Given the description of an element on the screen output the (x, y) to click on. 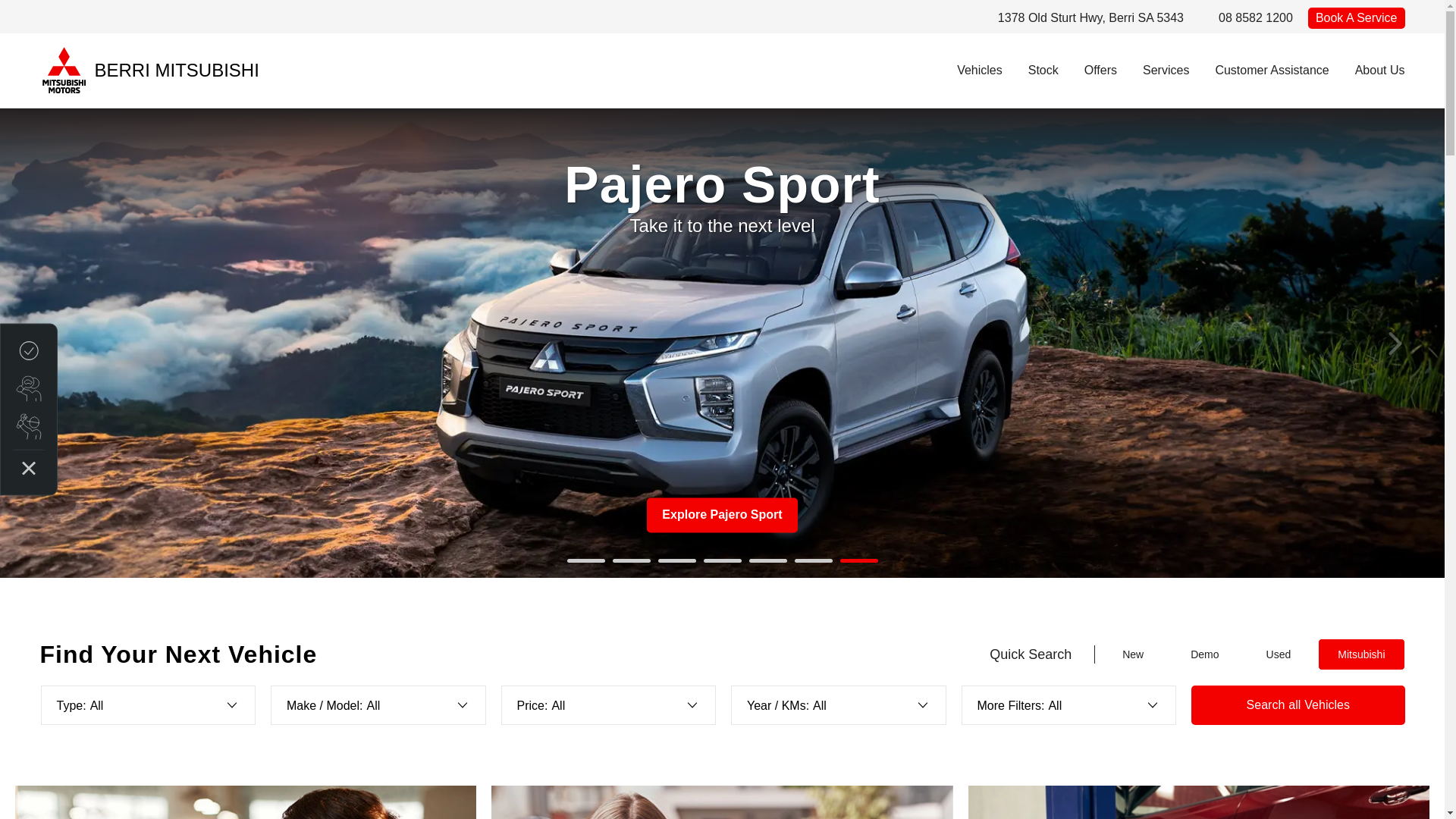
08 8582 1200 (1255, 18)
1378 Old Sturt Hwy, Berri SA 5343 (1090, 18)
